Given the description of an element on the screen output the (x, y) to click on. 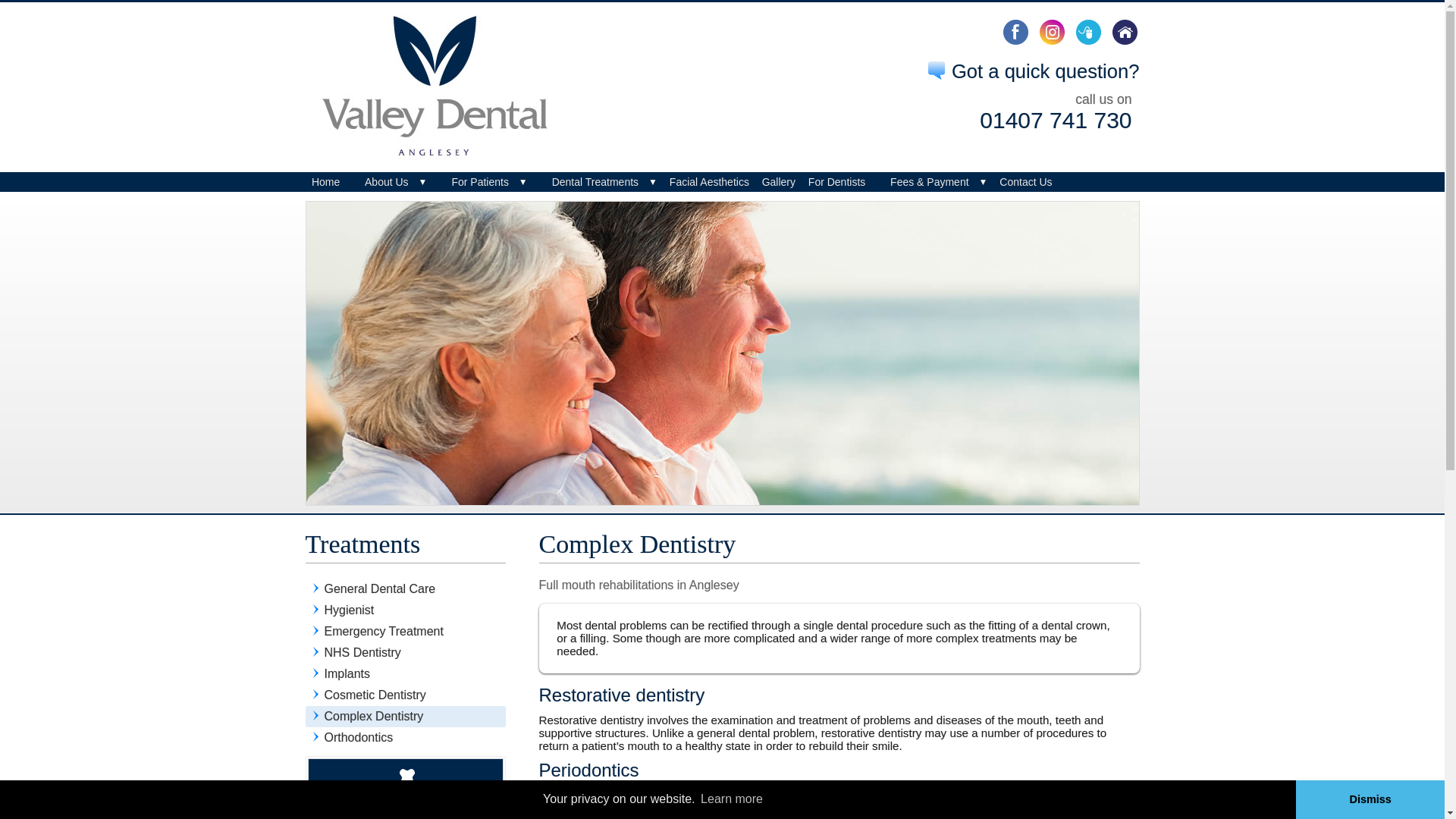
Home (325, 181)
For Dentists (836, 181)
Contact Us (1025, 181)
Cosmetic Dentistry (404, 694)
Hygienist (404, 608)
Dental Treatments (594, 181)
NHS Dentistry (404, 651)
About Us (386, 181)
Facial Aesthetics (708, 181)
Got a quick question? (1033, 71)
